Given the description of an element on the screen output the (x, y) to click on. 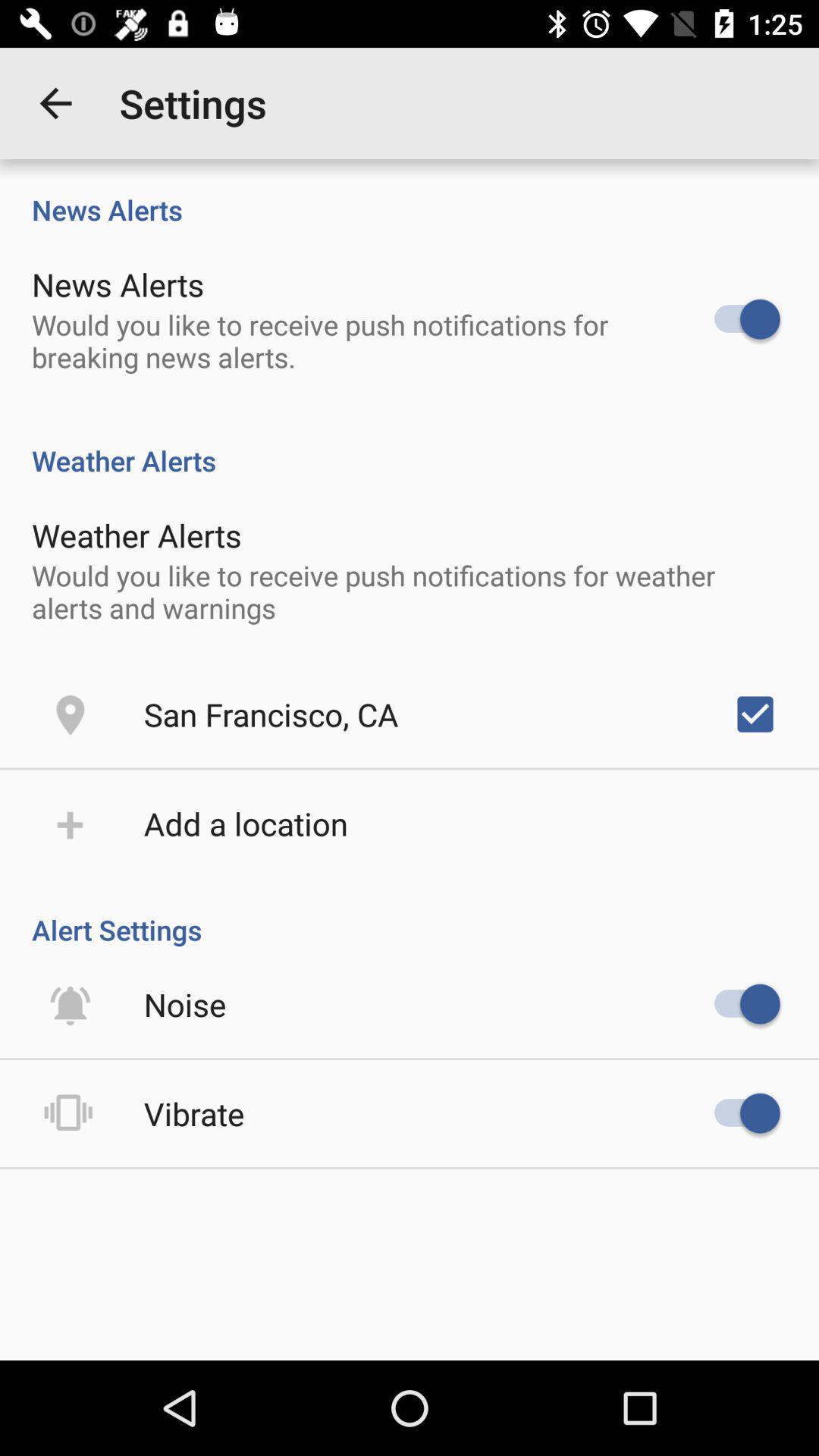
flip until noise icon (184, 1004)
